Given the description of an element on the screen output the (x, y) to click on. 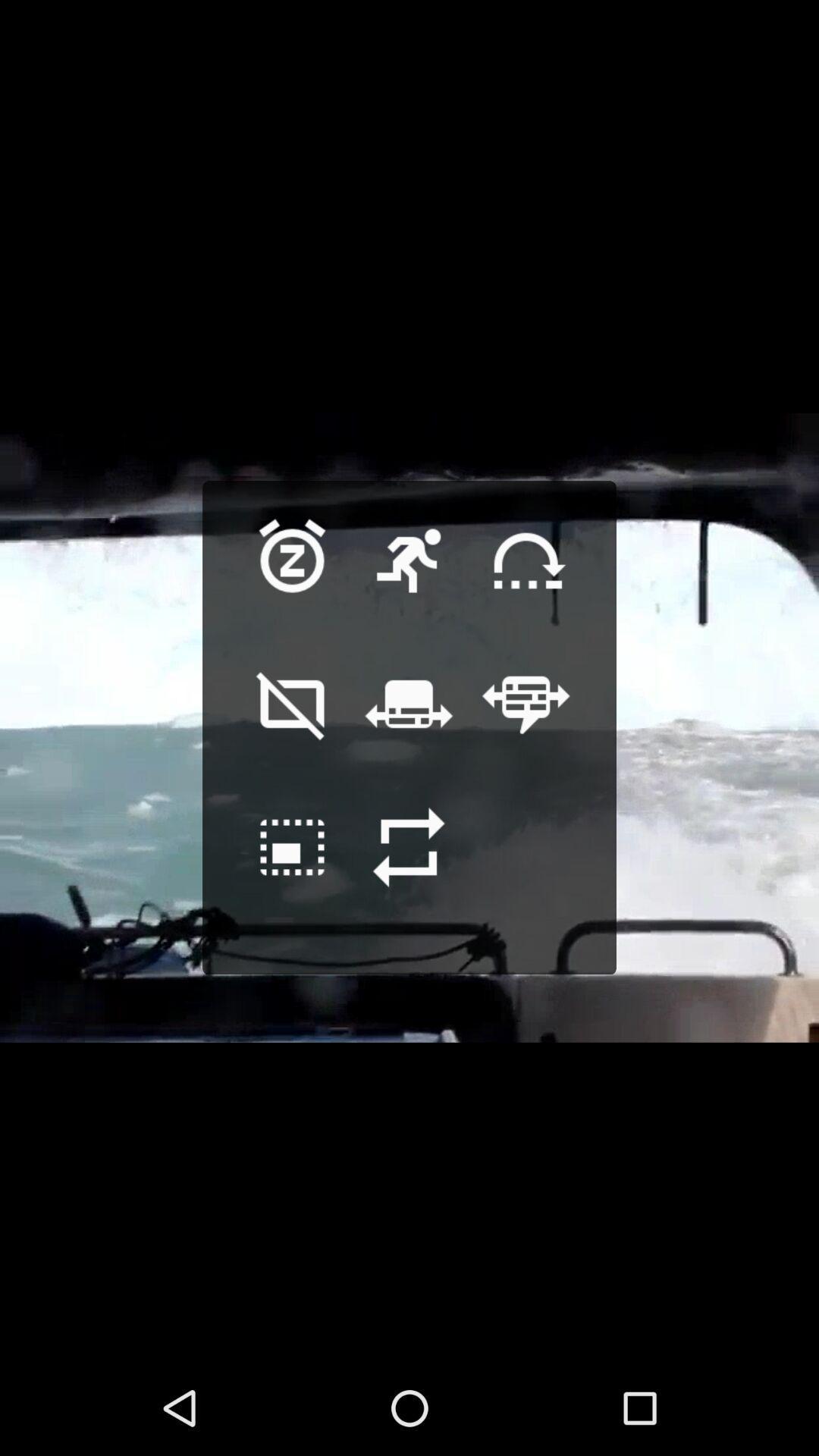
return (408, 870)
